Given the description of an element on the screen output the (x, y) to click on. 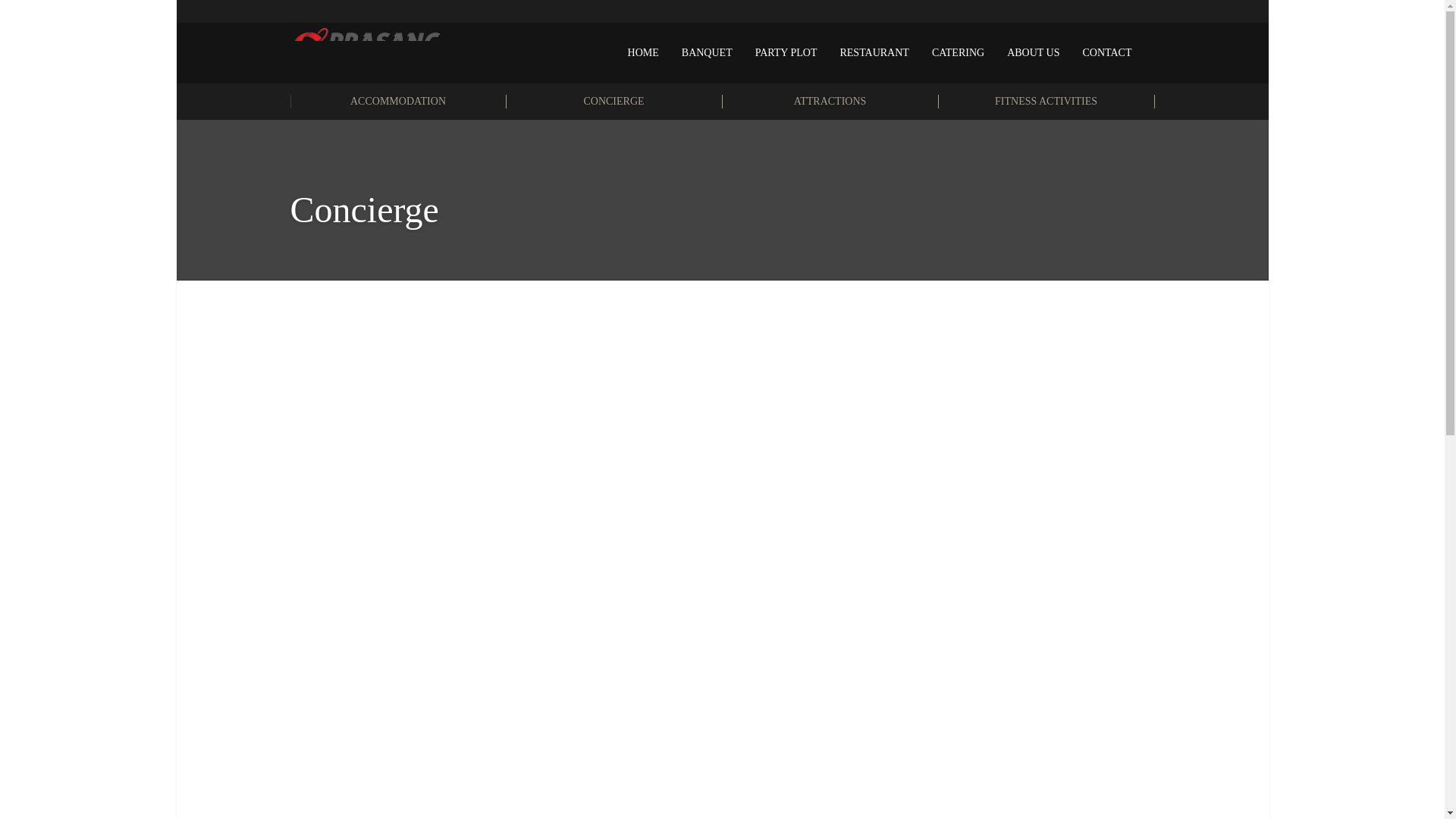
FITNESS ACTIVITIES (1046, 101)
ATTRACTIONS (829, 101)
PARTY PLOT (785, 52)
CONCIERGE (614, 101)
ACCOMMODATION (397, 101)
RESTAURANT (874, 52)
